Given the description of an element on the screen output the (x, y) to click on. 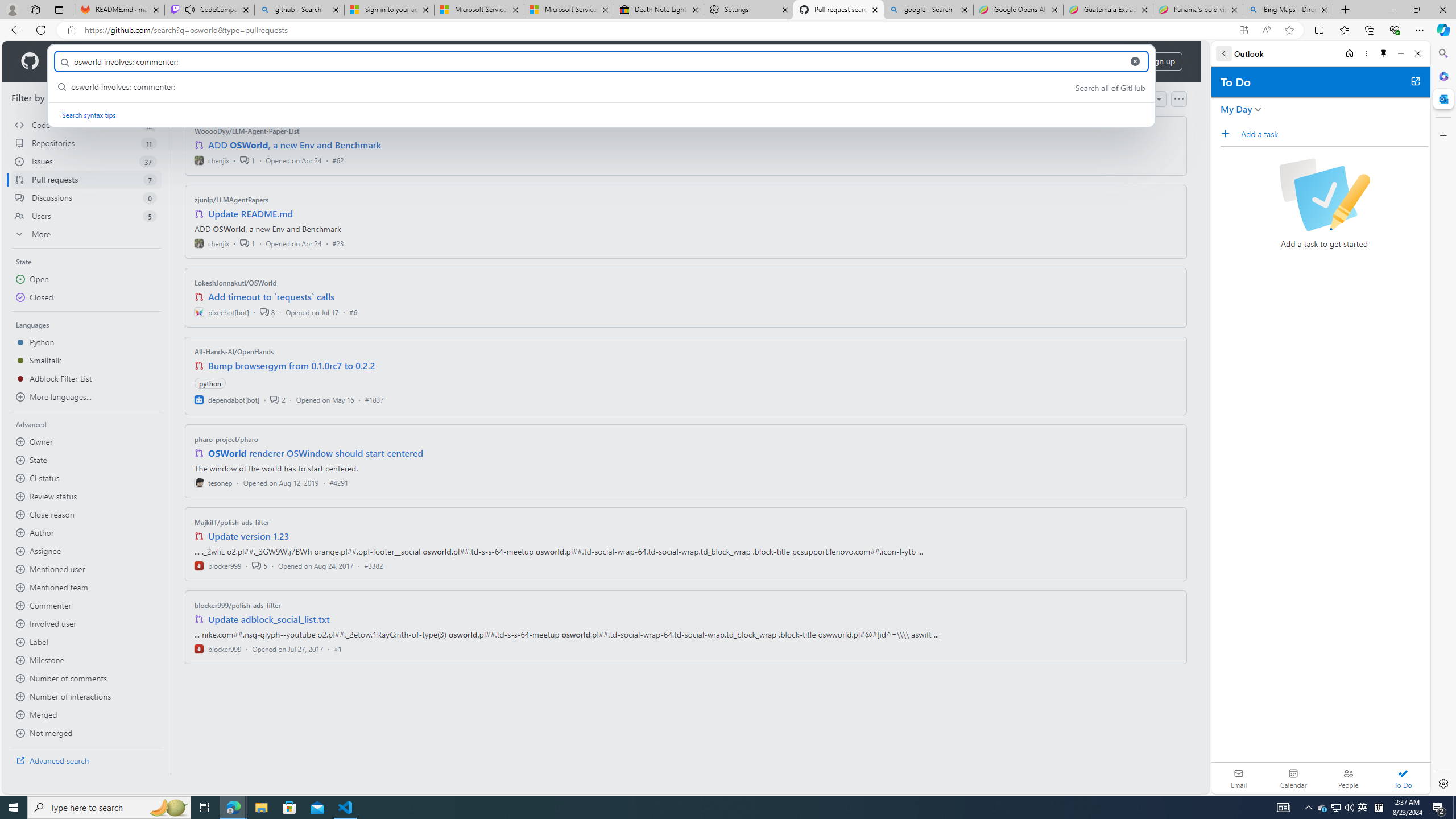
Calendar. Date today is 22 (1293, 777)
Pricing (368, 60)
5 (259, 565)
OSWorld renderer OSWindow should start centered (315, 453)
Open in new tab (1414, 80)
Sign up (1161, 61)
